Given the description of an element on the screen output the (x, y) to click on. 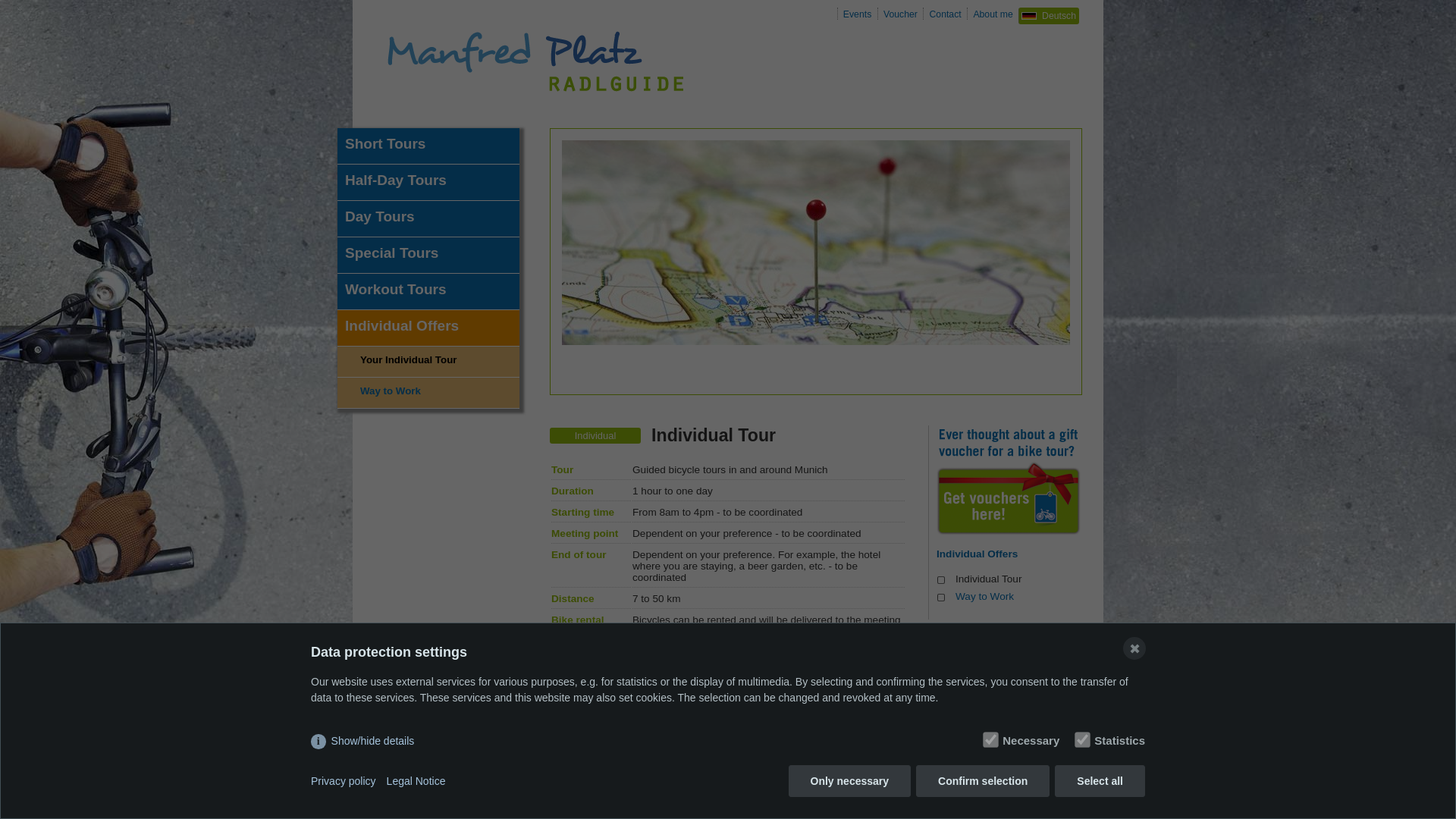
About me (991, 13)
Events (857, 13)
Contact (944, 13)
About me (991, 13)
Deutsch (1047, 15)
Voucher (900, 13)
on (1079, 737)
Your Individual Tour (428, 361)
Half-Day Tours (428, 182)
Privacy policy (343, 781)
Deutsch (1047, 15)
Individual Offers (1008, 553)
Manfred Platz Radlguide (533, 98)
Events (857, 13)
Way to Work (984, 595)
